Given the description of an element on the screen output the (x, y) to click on. 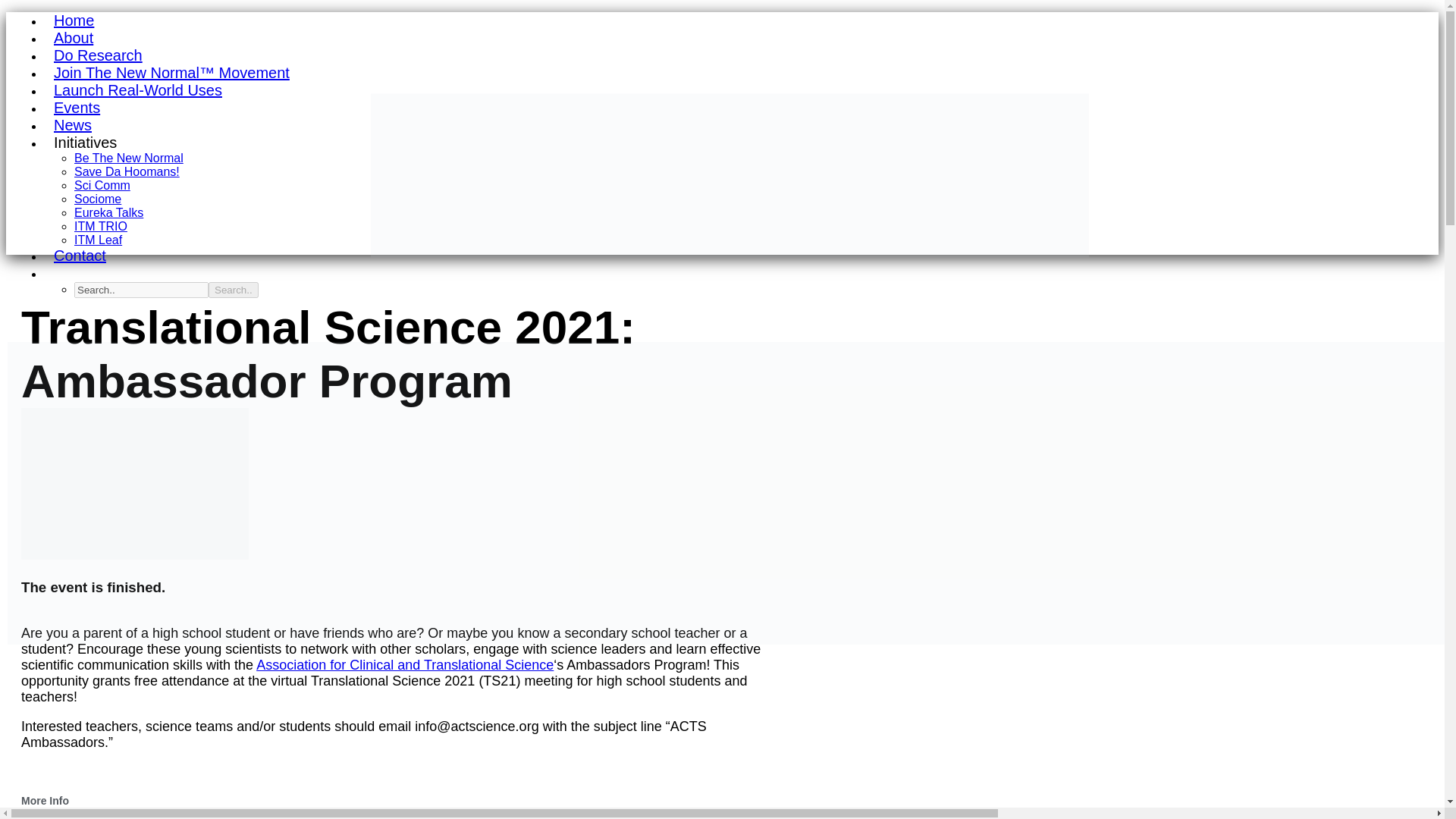
ITM TRIO (101, 226)
Home (73, 20)
Eureka Talks (108, 212)
Events (76, 107)
Save Da Hoomans! (126, 171)
ITM Leaf (98, 239)
Launch Real-World Uses (137, 89)
Be The New Normal (128, 157)
Initiatives (84, 142)
